Given the description of an element on the screen output the (x, y) to click on. 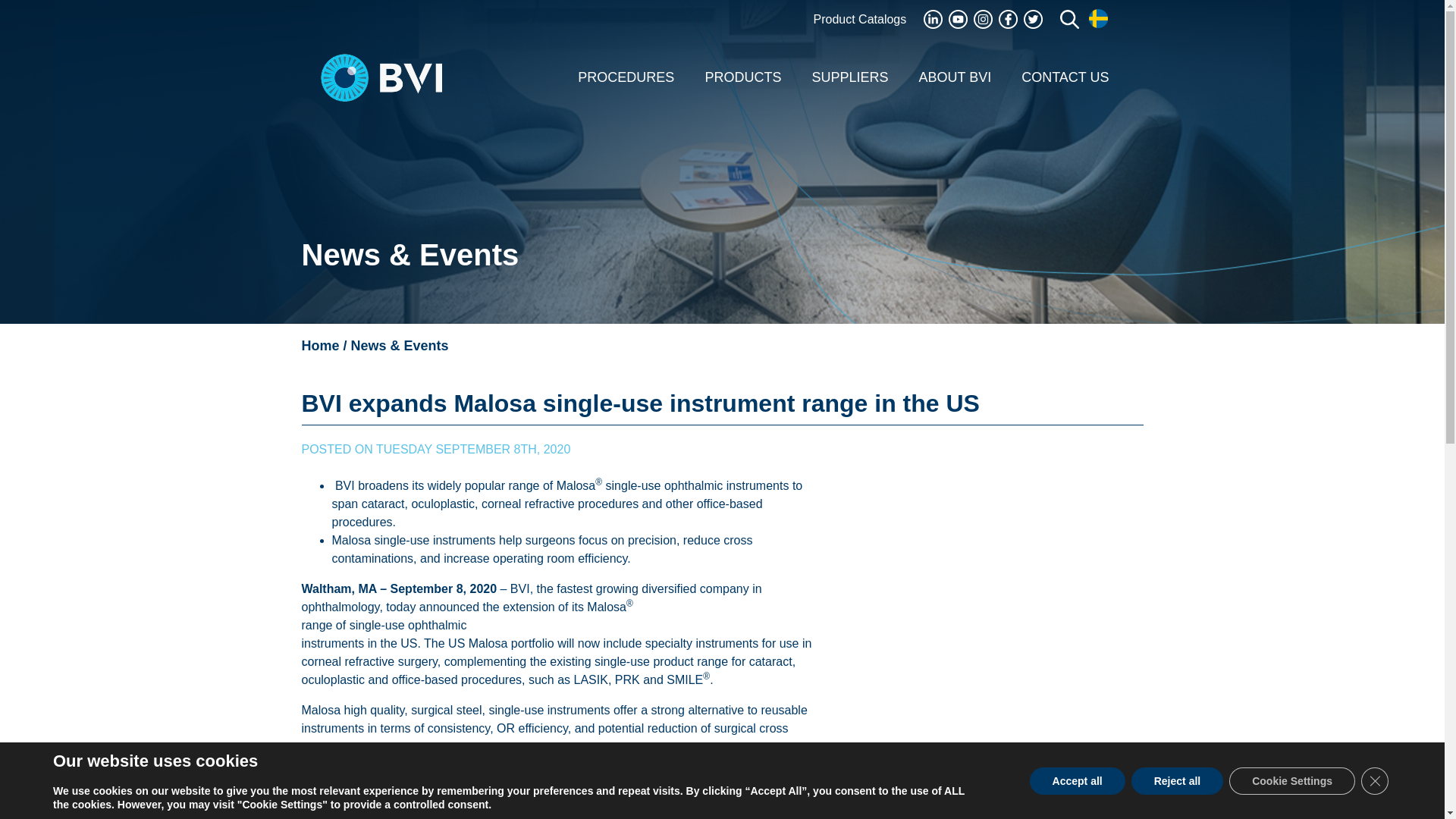
SUPPLIERS (849, 77)
PROCEDURES (625, 77)
Products (742, 77)
Procedures (625, 77)
ABOUT BVI (954, 77)
Suppliers (849, 77)
PRODUCTS (742, 77)
About BVI (954, 77)
CONTACT US (1065, 77)
Product Catalogs (858, 19)
